Given the description of an element on the screen output the (x, y) to click on. 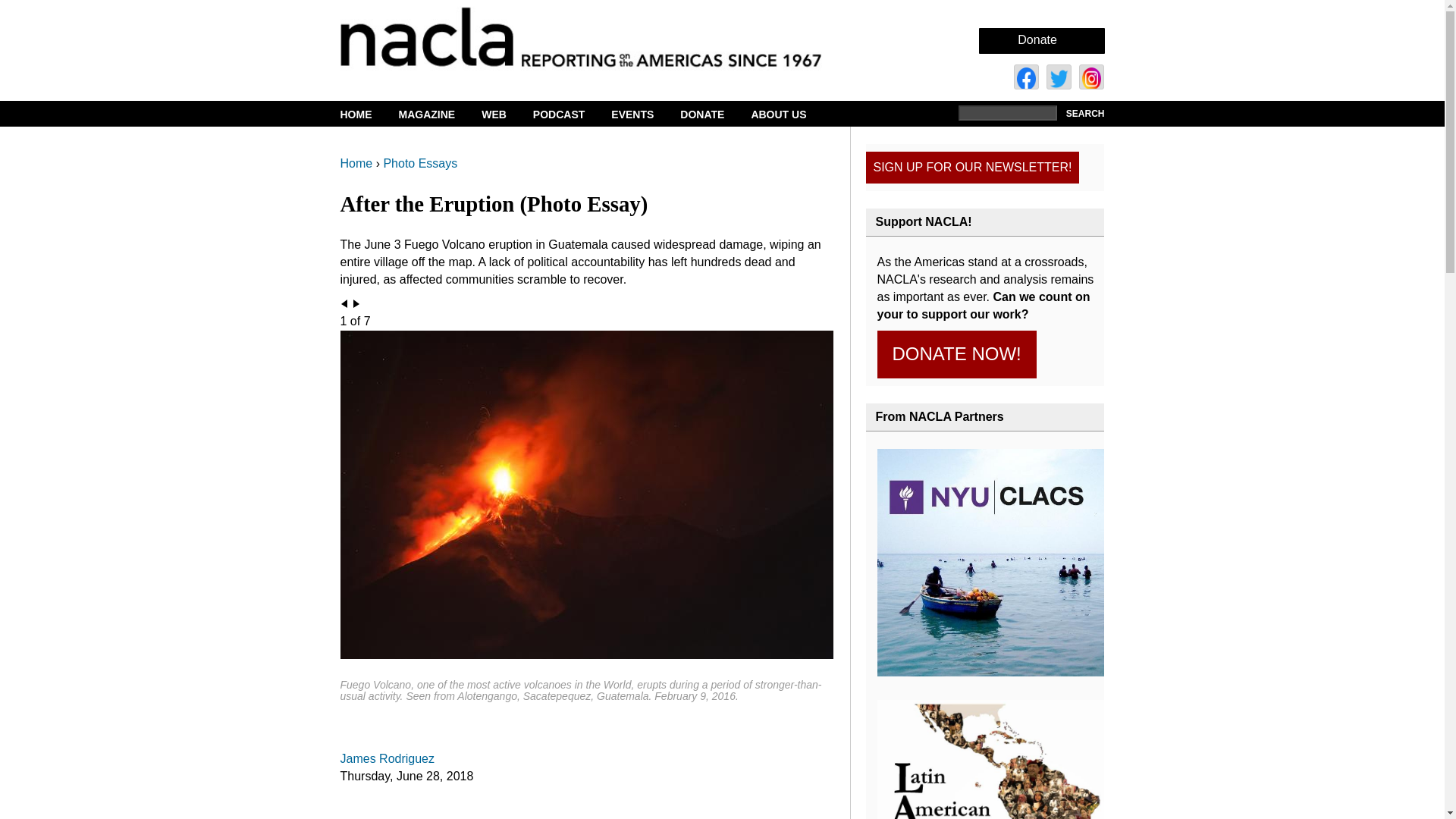
Search (1083, 113)
Home (607, 36)
DONATE (711, 114)
Donate (1037, 39)
Search (1083, 113)
HOME (366, 114)
